Given the description of an element on the screen output the (x, y) to click on. 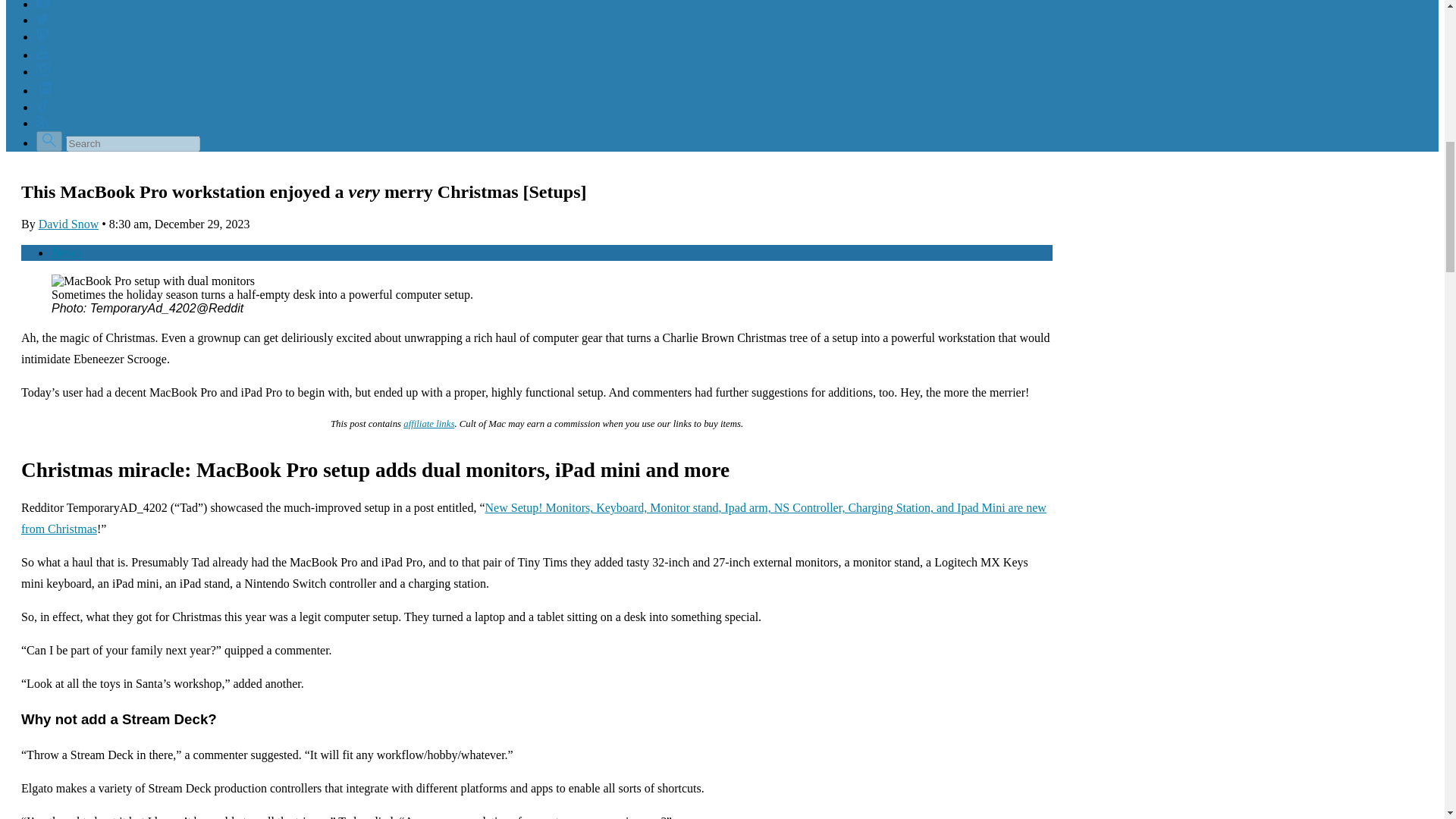
Posts by David Snow (69, 223)
